Given the description of an element on the screen output the (x, y) to click on. 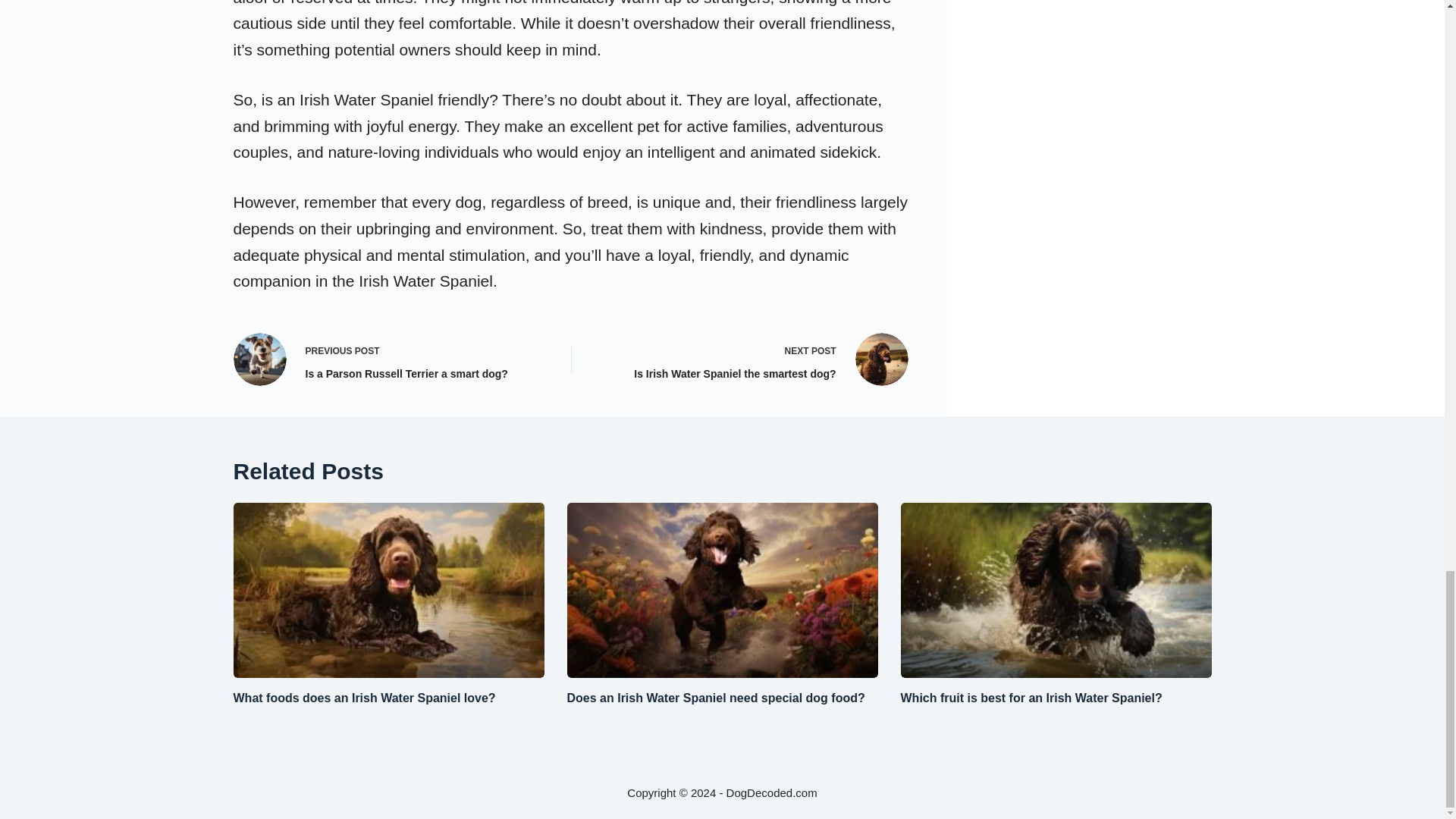
Does an Irish Water Spaniel need special dog food? (387, 358)
What foods does an Irish Water Spaniel love? (751, 358)
Which fruit is best for an Irish Water Spaniel? (715, 697)
